Given the description of an element on the screen output the (x, y) to click on. 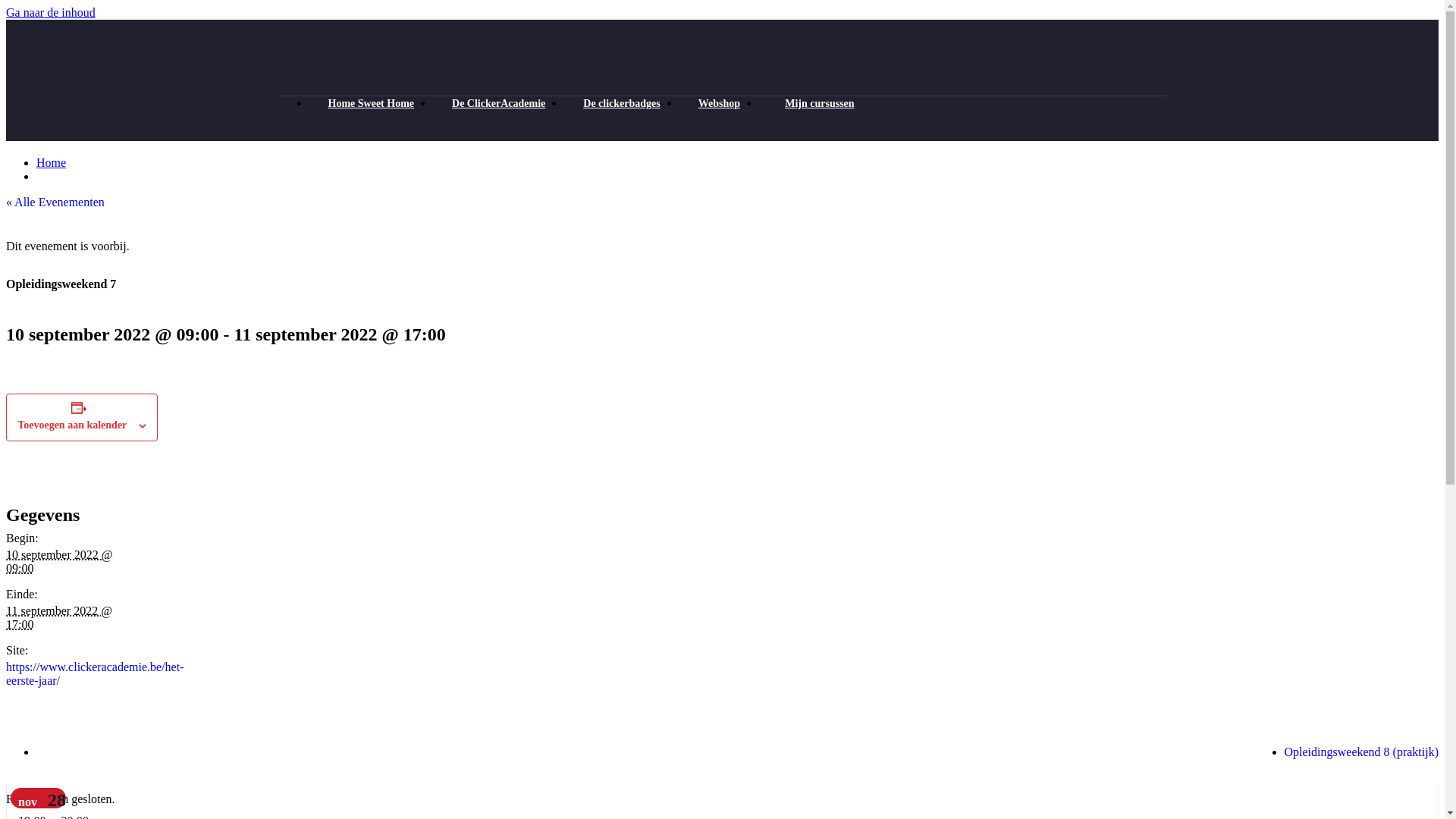
Webshop Element type: text (719, 103)
De ClickerAcademie Element type: text (498, 103)
Opleidingsweekend 8 (praktijk) Element type: text (1361, 751)
https://www.clickeracademie.be/het-eerste-jaar/ Element type: text (94, 673)
Mijn cursussen Element type: text (816, 103)
Toevoegen aan kalender Element type: text (71, 425)
De clickerbadges Element type: text (621, 103)
Home Sweet Home Element type: text (371, 103)
Home Element type: text (50, 162)
ClickerAcademie Element type: text (90, 81)
Ga naar de inhoud Element type: text (50, 12)
